Given the description of an element on the screen output the (x, y) to click on. 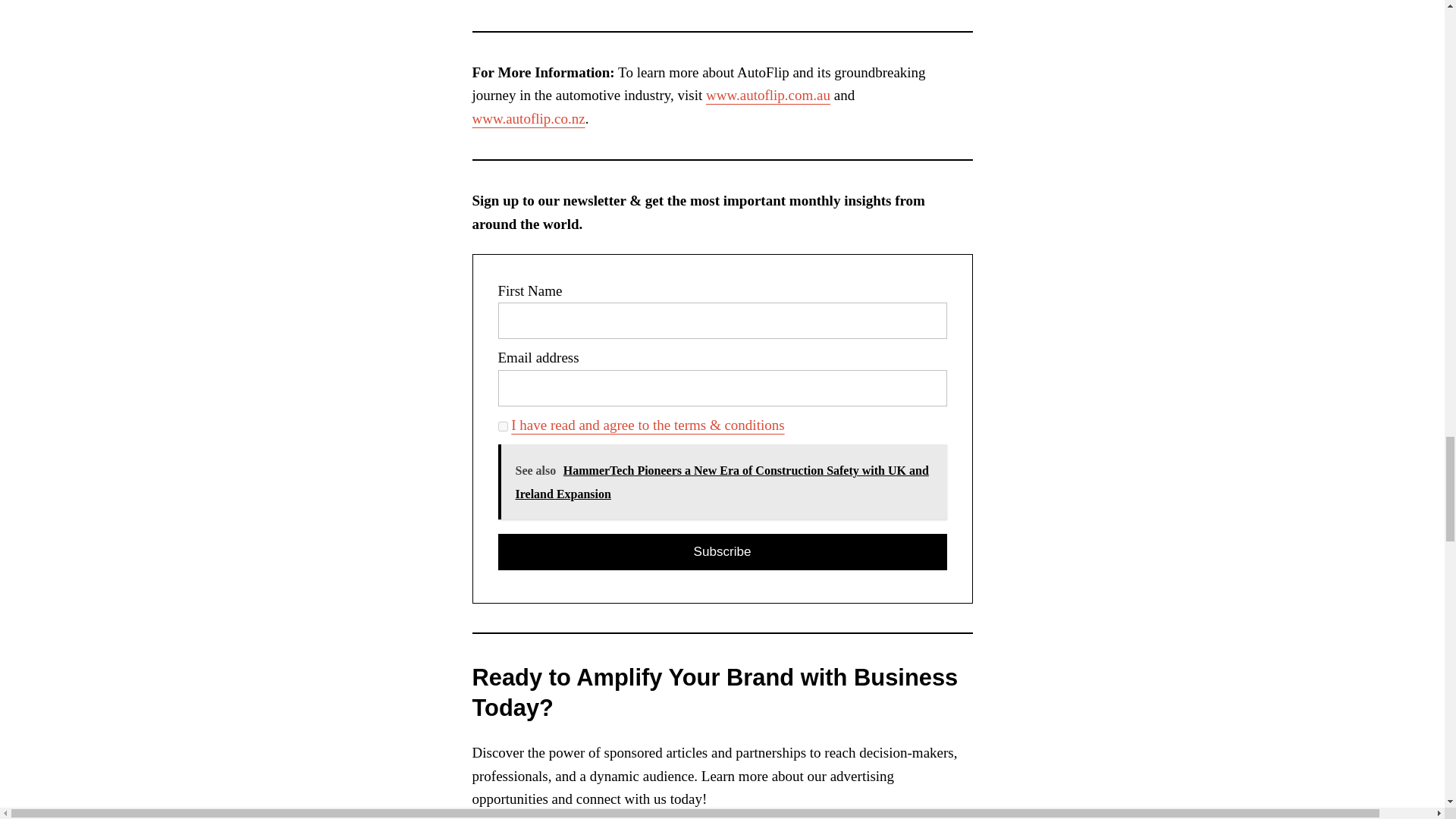
Subscribe (721, 551)
1 (501, 426)
